Given the description of an element on the screen output the (x, y) to click on. 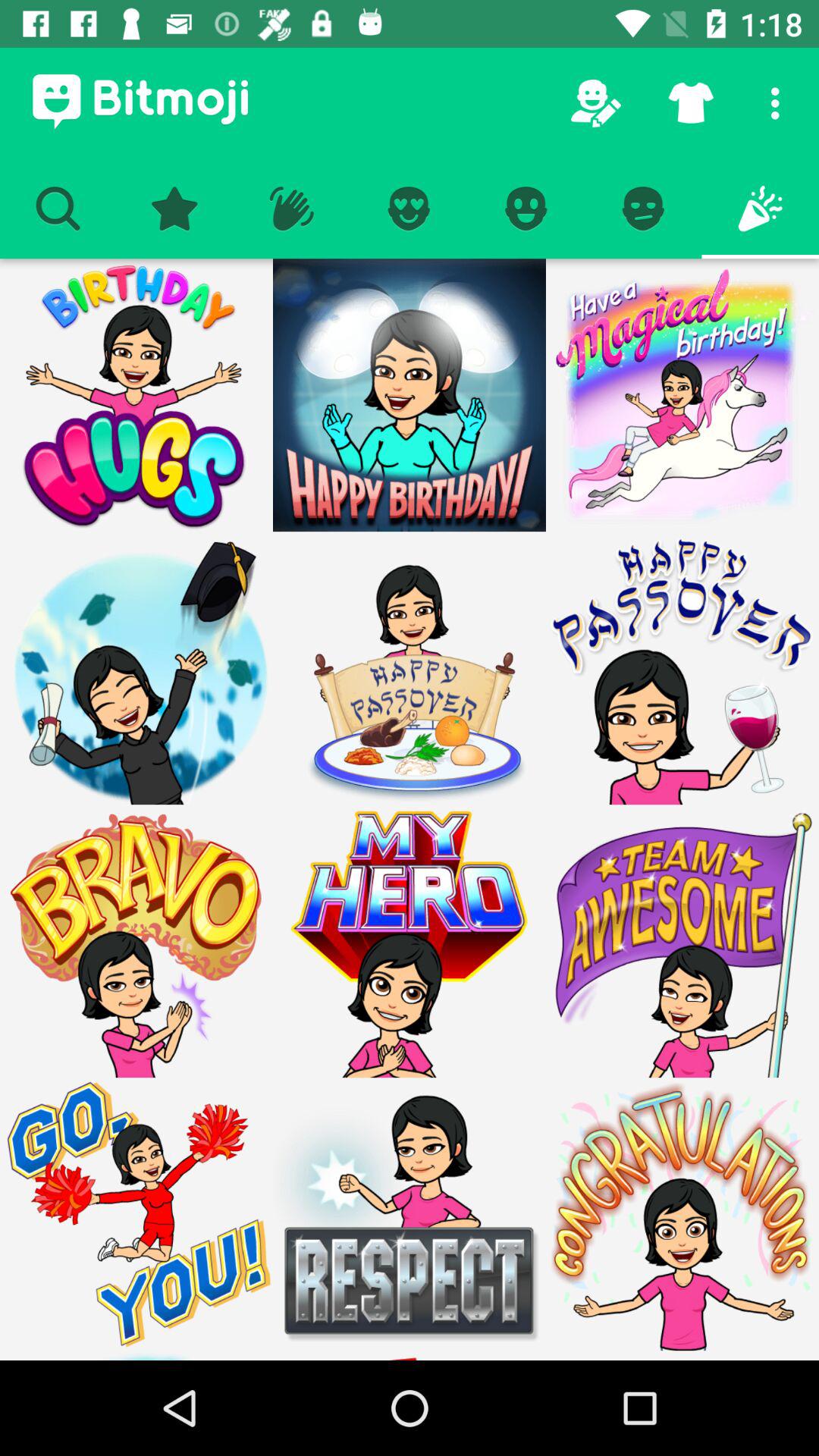
bitmoji image (682, 394)
